Given the description of an element on the screen output the (x, y) to click on. 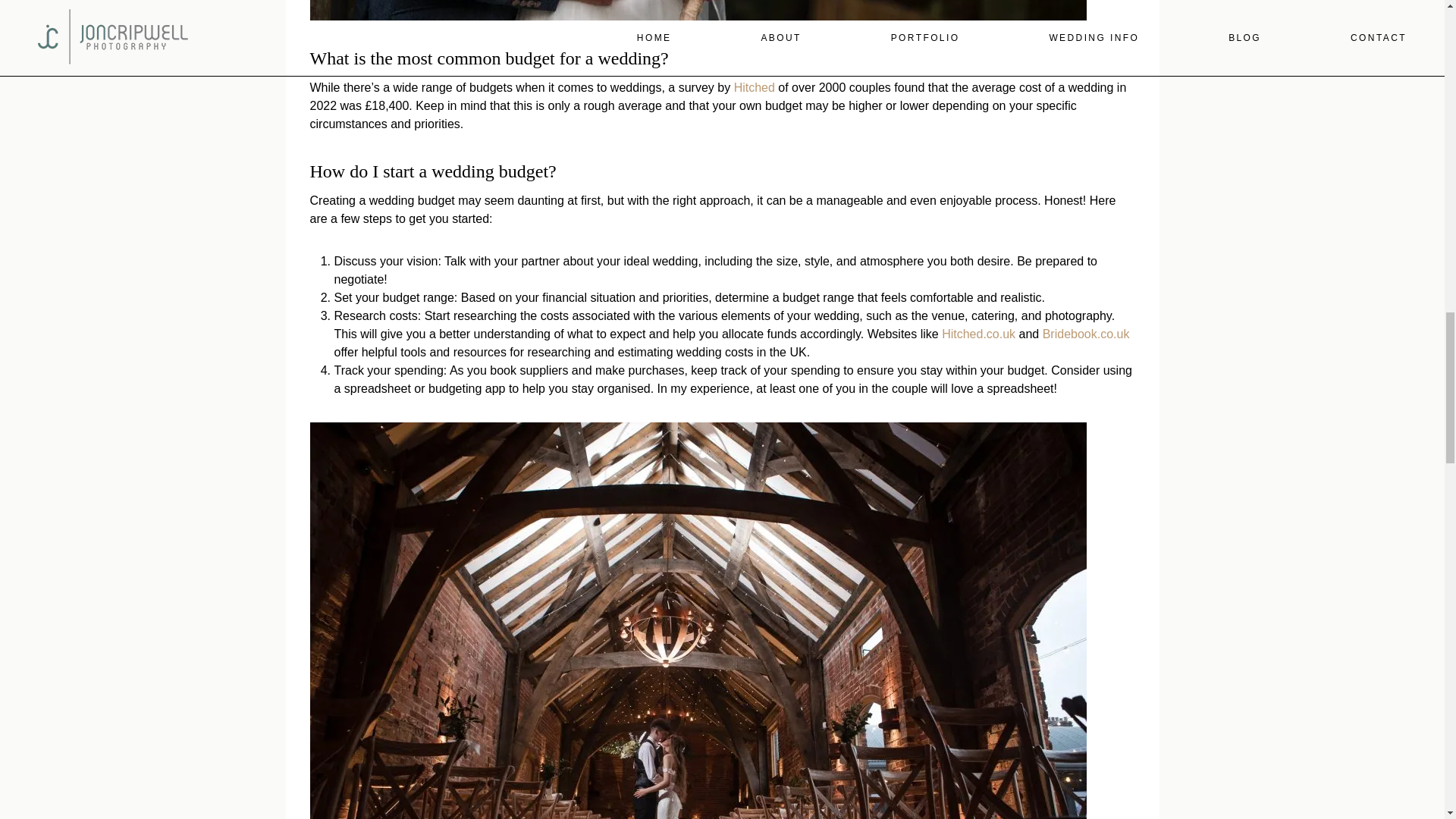
Hitched (753, 87)
Hitched.co.uk (978, 333)
Bridebook.co.uk (1085, 333)
